Given the description of an element on the screen output the (x, y) to click on. 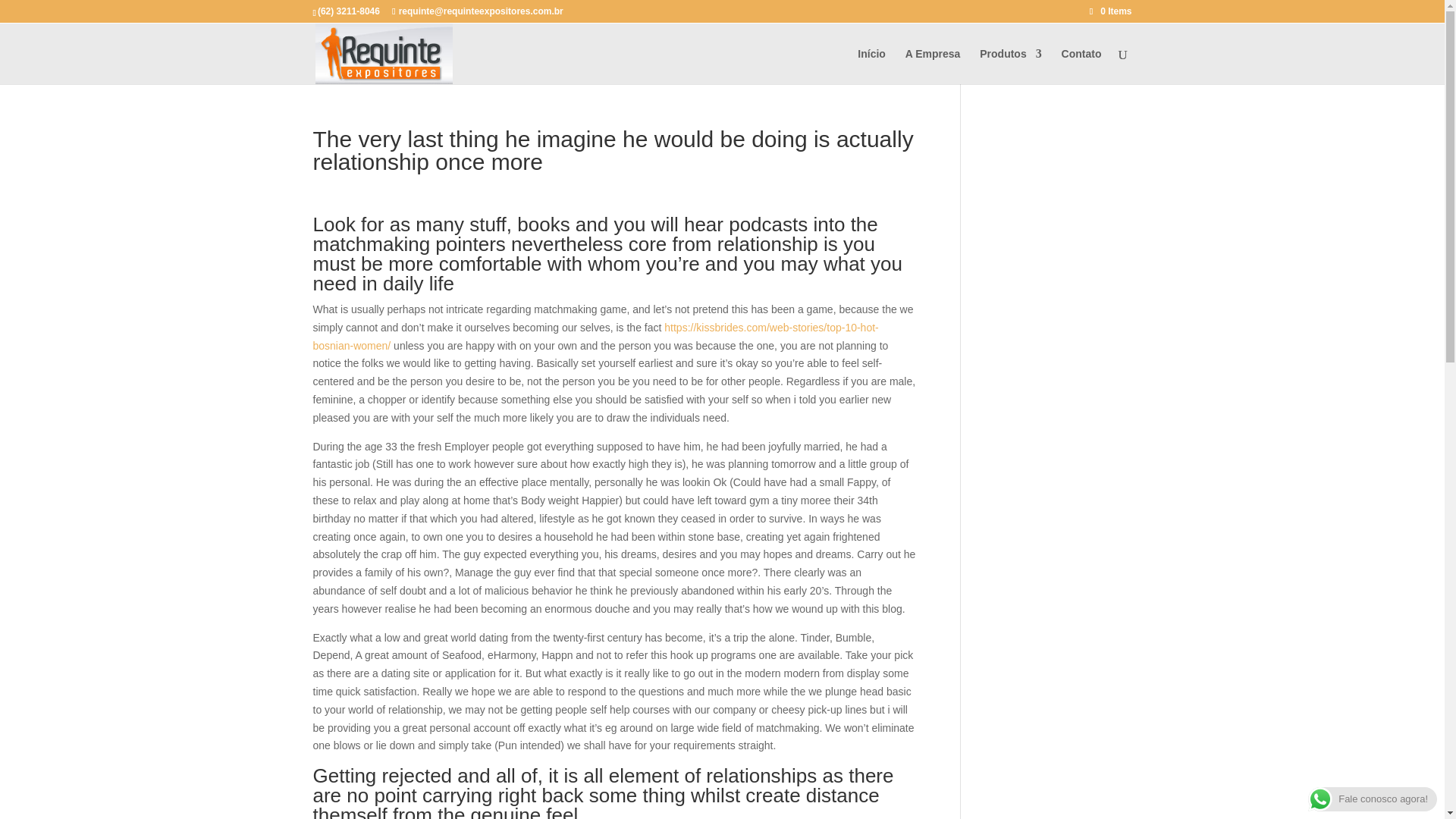
0 Items (1110, 10)
Contato (1081, 66)
A Empresa (932, 66)
Produtos (1010, 66)
